Given the description of an element on the screen output the (x, y) to click on. 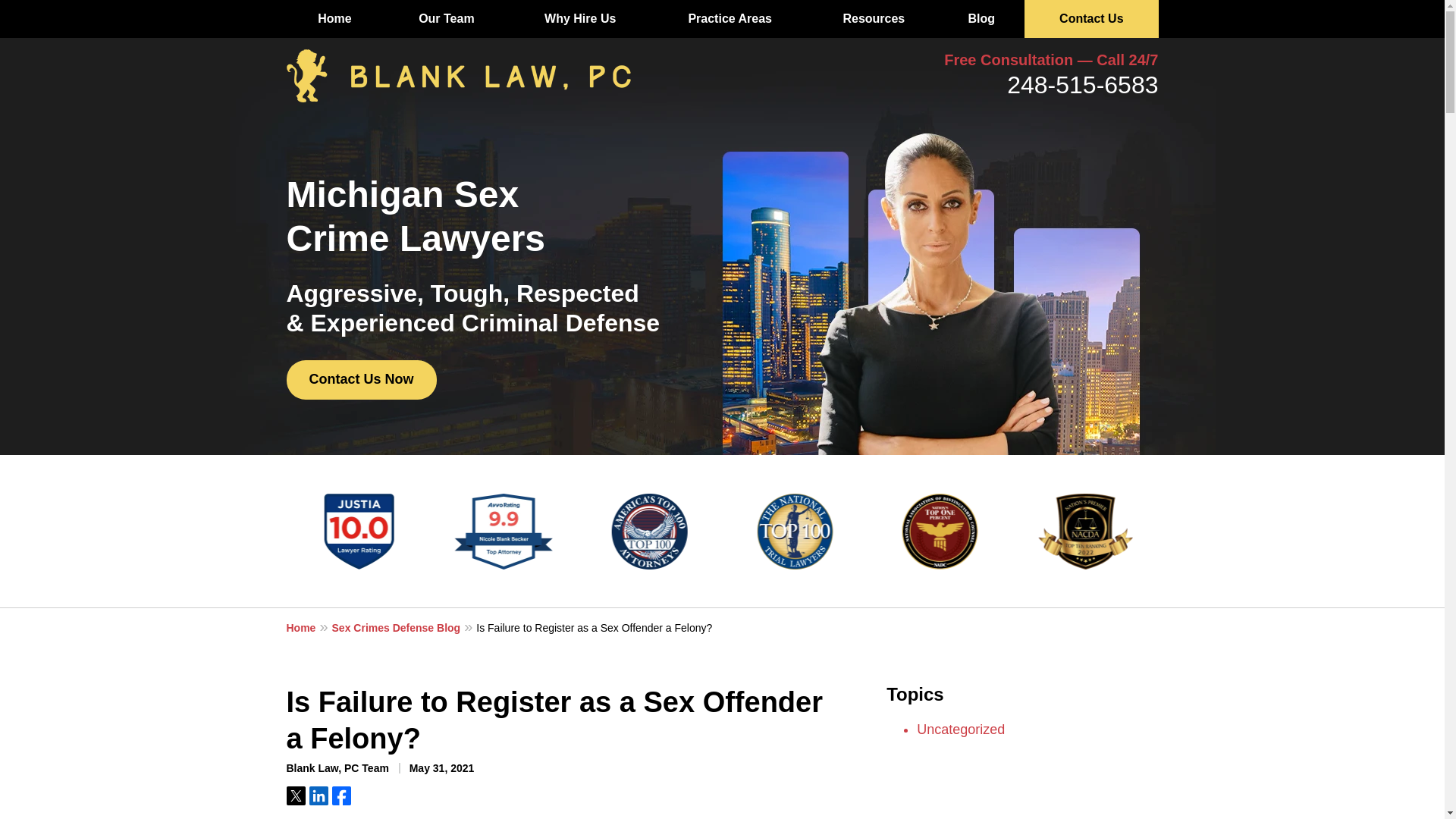
Why Hire Us (579, 18)
Home (308, 627)
Home (335, 18)
Practice Areas (729, 18)
248-515-6583 (1082, 84)
Blog (982, 18)
Share (318, 795)
Share (340, 795)
Contact Us (1091, 18)
Tweet (295, 795)
Our Team (447, 18)
Sex Crimes Defense Blog (404, 627)
Contact Us Now (361, 379)
Resources (873, 18)
